Given the description of an element on the screen output the (x, y) to click on. 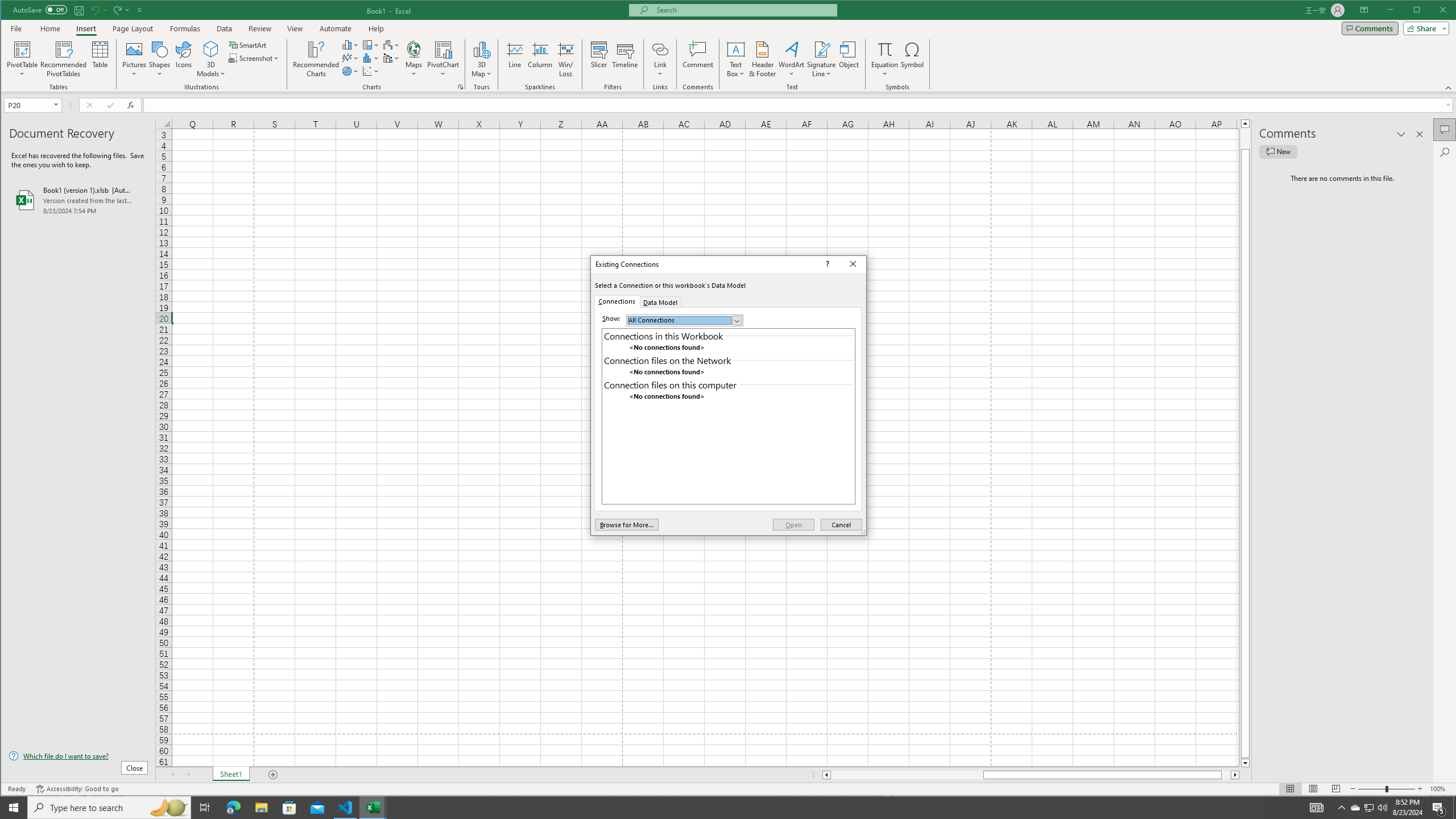
Signature Line (821, 48)
SmartArt... (248, 44)
Connections in this Workbook (728, 335)
Signature Line (821, 59)
Insert Scatter (X, Y) or Bubble Chart (371, 70)
Symbol... (912, 59)
Pictures (134, 59)
